Given the description of an element on the screen output the (x, y) to click on. 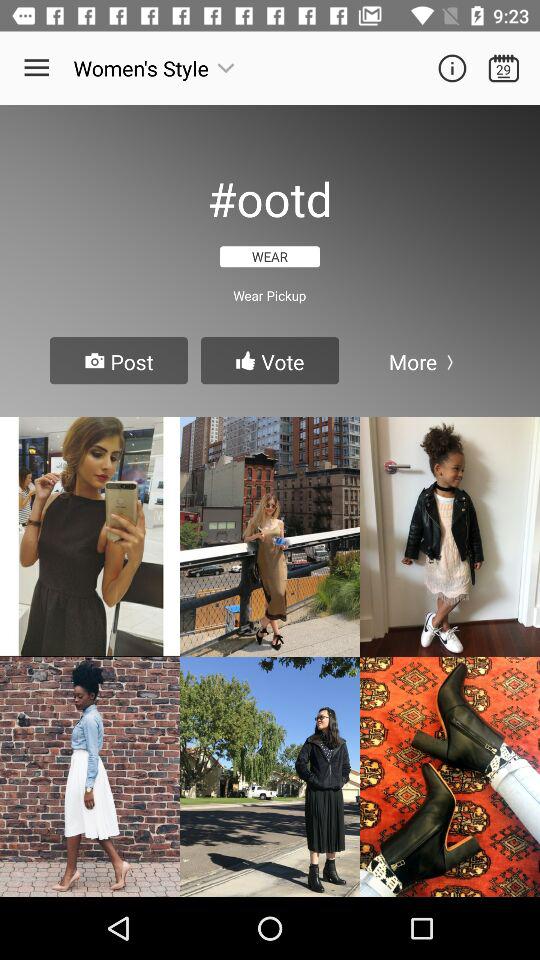
find out more information (452, 68)
